Given the description of an element on the screen output the (x, y) to click on. 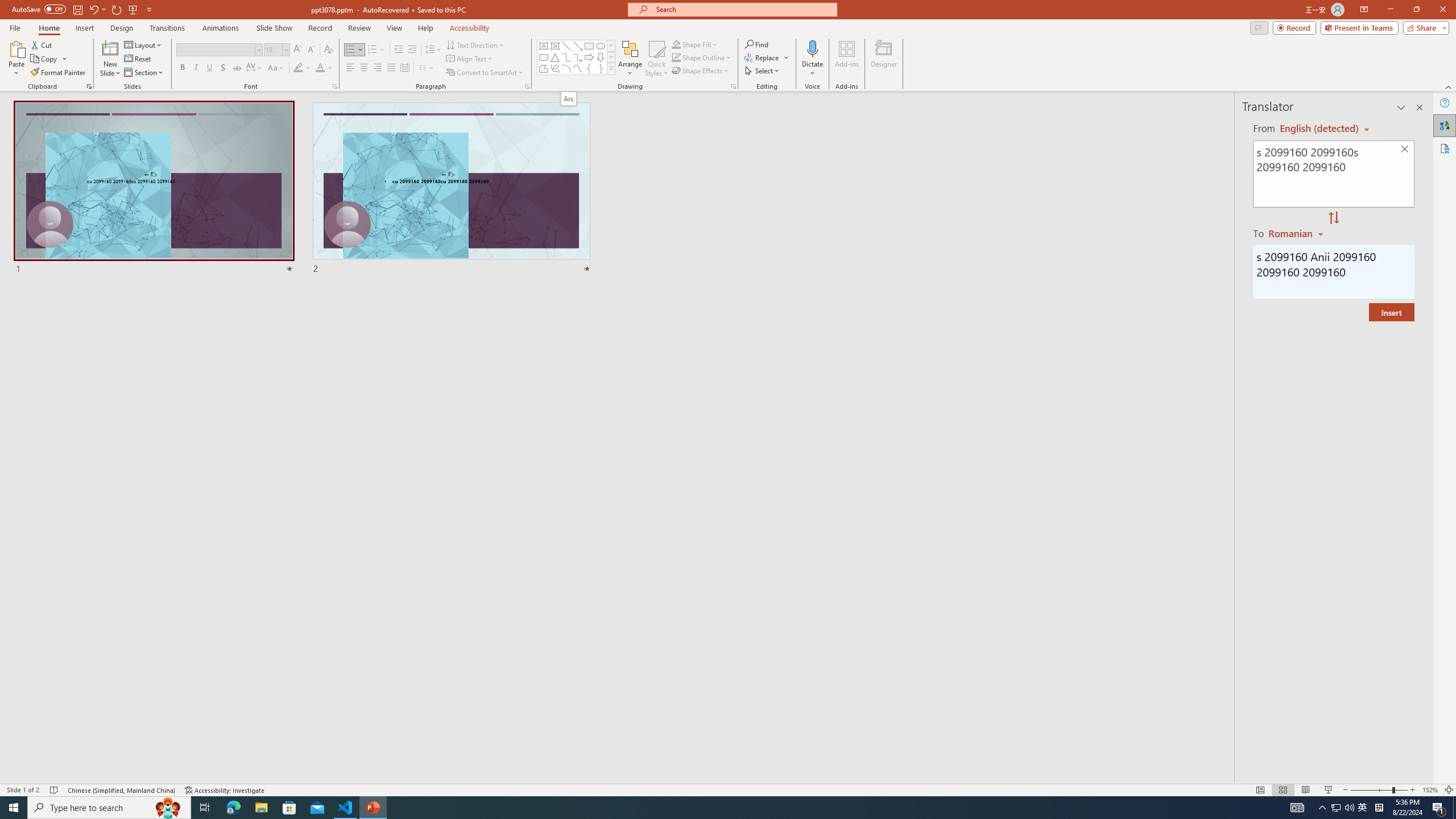
Decrease Font Size (310, 49)
Arrange (630, 58)
Reset (138, 58)
Cut (42, 44)
Freeform: Shape (543, 68)
Bold (182, 67)
